Given the description of an element on the screen output the (x, y) to click on. 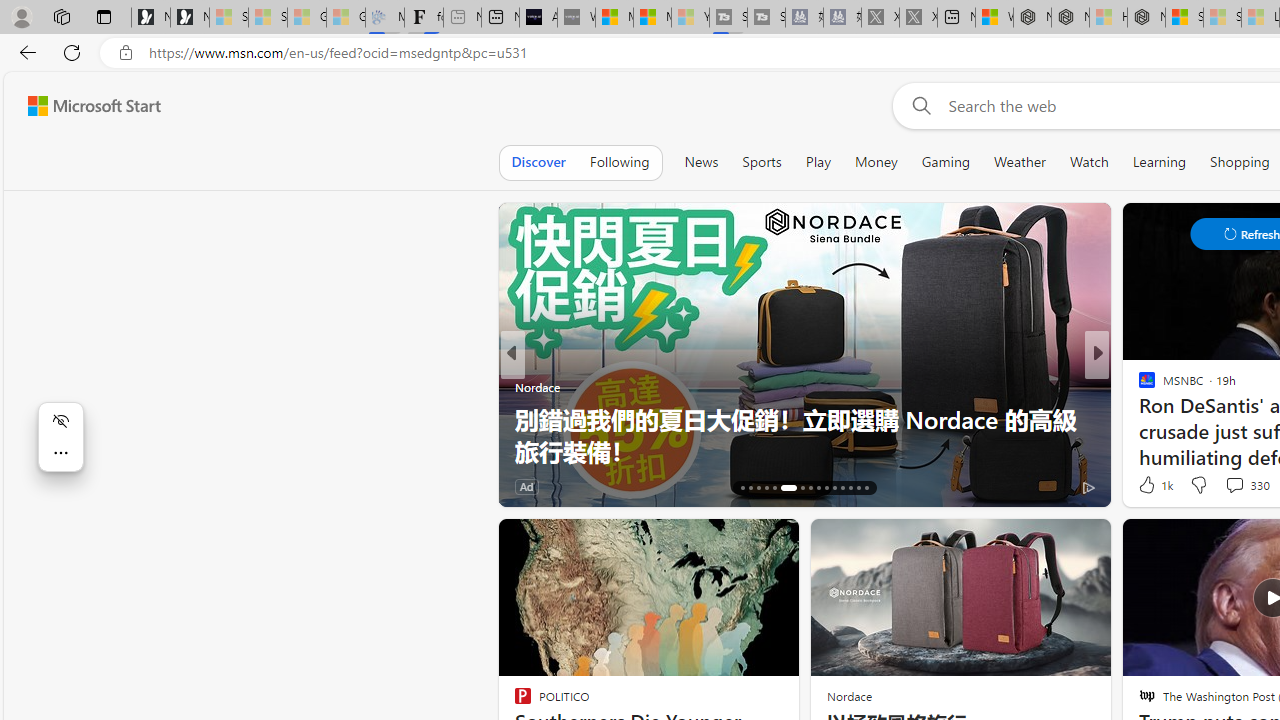
91 Like (1149, 486)
626 Like (1151, 486)
View comments 213 Comment (11, 485)
AutomationID: tab-22 (801, 487)
AutomationID: tab-27 (842, 487)
AutomationID: tab-24 (818, 487)
Comments turned off for this story (1222, 485)
Business Insider (1138, 386)
View comments 353 Comment (1247, 486)
18 Like (1149, 486)
View comments 353 Comment (1234, 485)
